Given the description of an element on the screen output the (x, y) to click on. 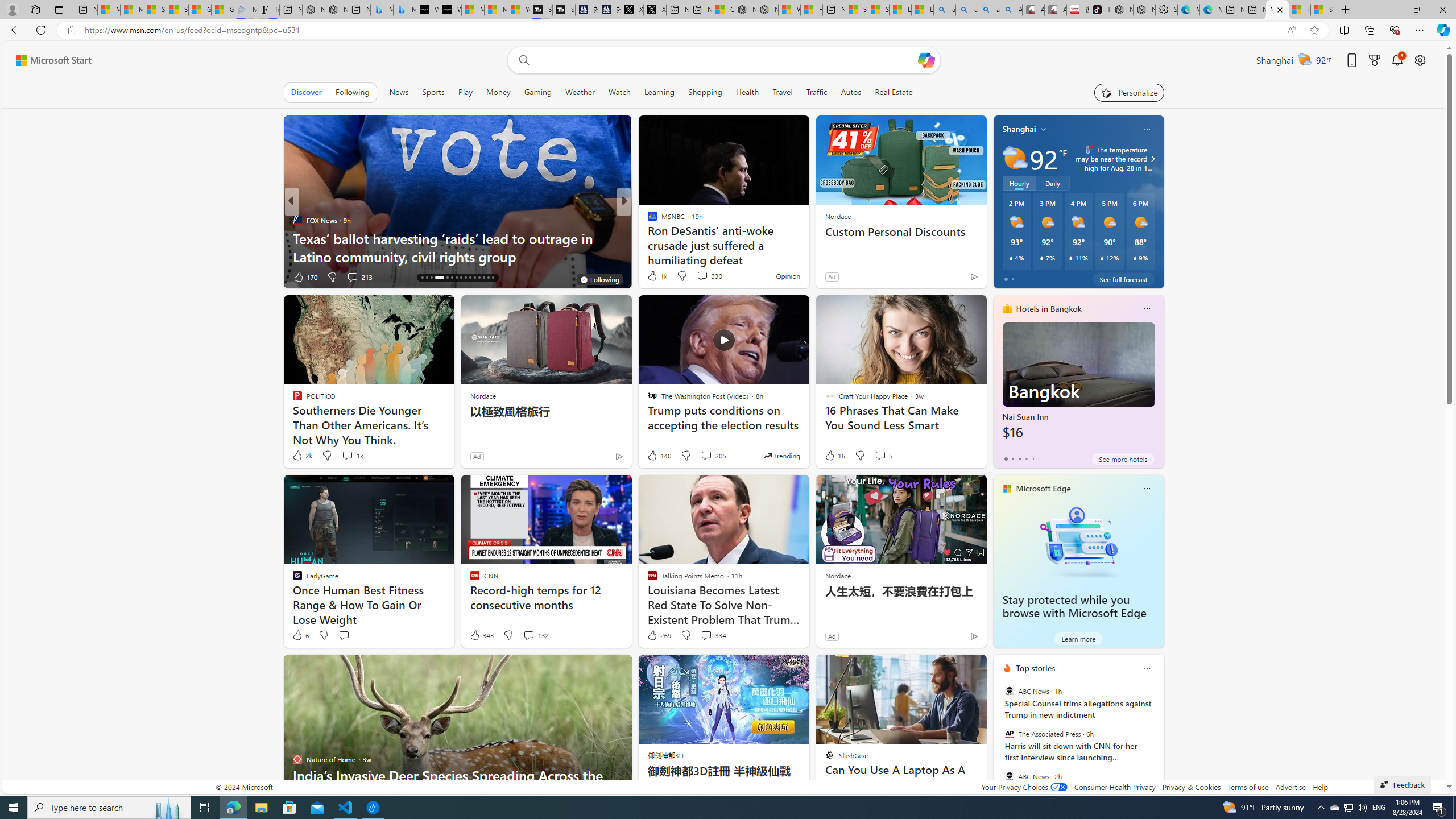
Traffic (816, 92)
Top stories (1035, 668)
View comments 205 Comment (712, 455)
next (1158, 741)
Enter your search term (726, 59)
View comments 334 Comment (712, 634)
